Given the description of an element on the screen output the (x, y) to click on. 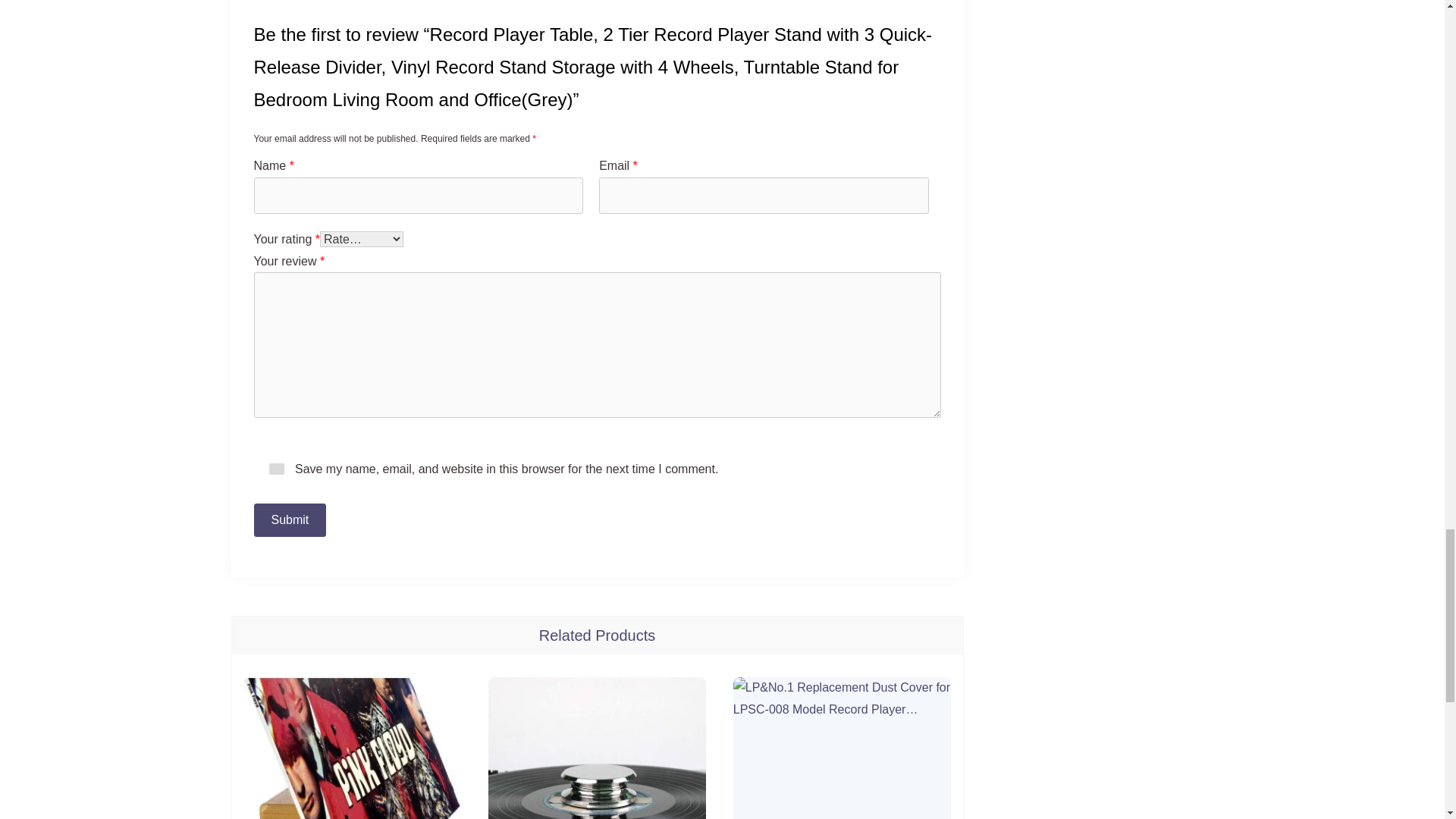
Submit (289, 520)
Submit (289, 520)
yes (275, 469)
